Given the description of an element on the screen output the (x, y) to click on. 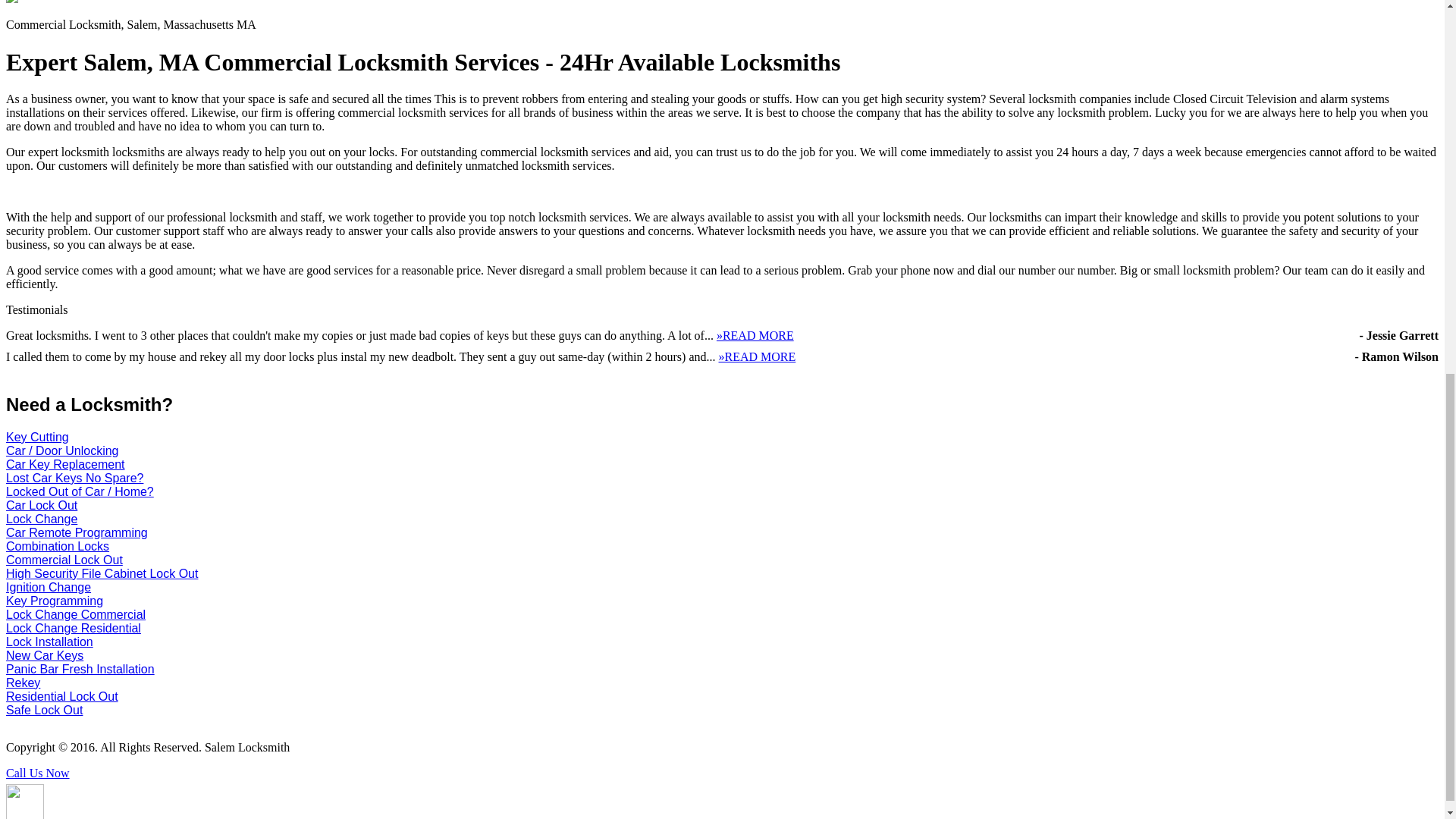
Lost Car Keys No Spare? (73, 477)
Car Remote Programming (76, 532)
Car Lock Out (41, 504)
Lock Change (41, 518)
Car Key Replacement (65, 463)
Key Cutting (36, 436)
